Given the description of an element on the screen output the (x, y) to click on. 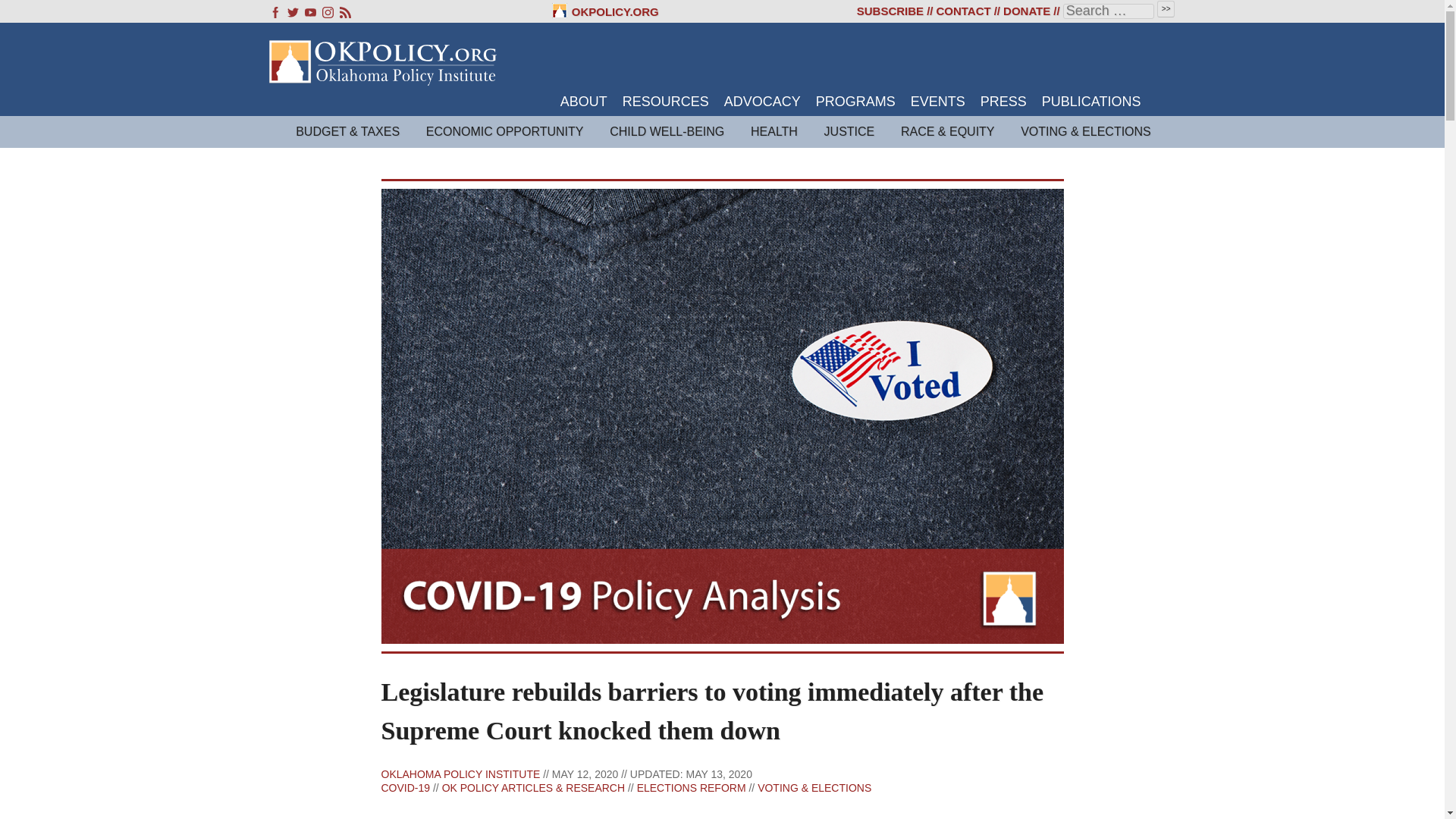
CONTACT (963, 10)
EVENTS (938, 101)
RESOURCES (666, 101)
ABOUT (583, 101)
ADVOCACY (761, 101)
SUBSCRIBE (890, 10)
DONATE (1026, 10)
OKPOLICY.ORG (605, 11)
PRESS (1002, 101)
PROGRAMS (855, 101)
